Given the description of an element on the screen output the (x, y) to click on. 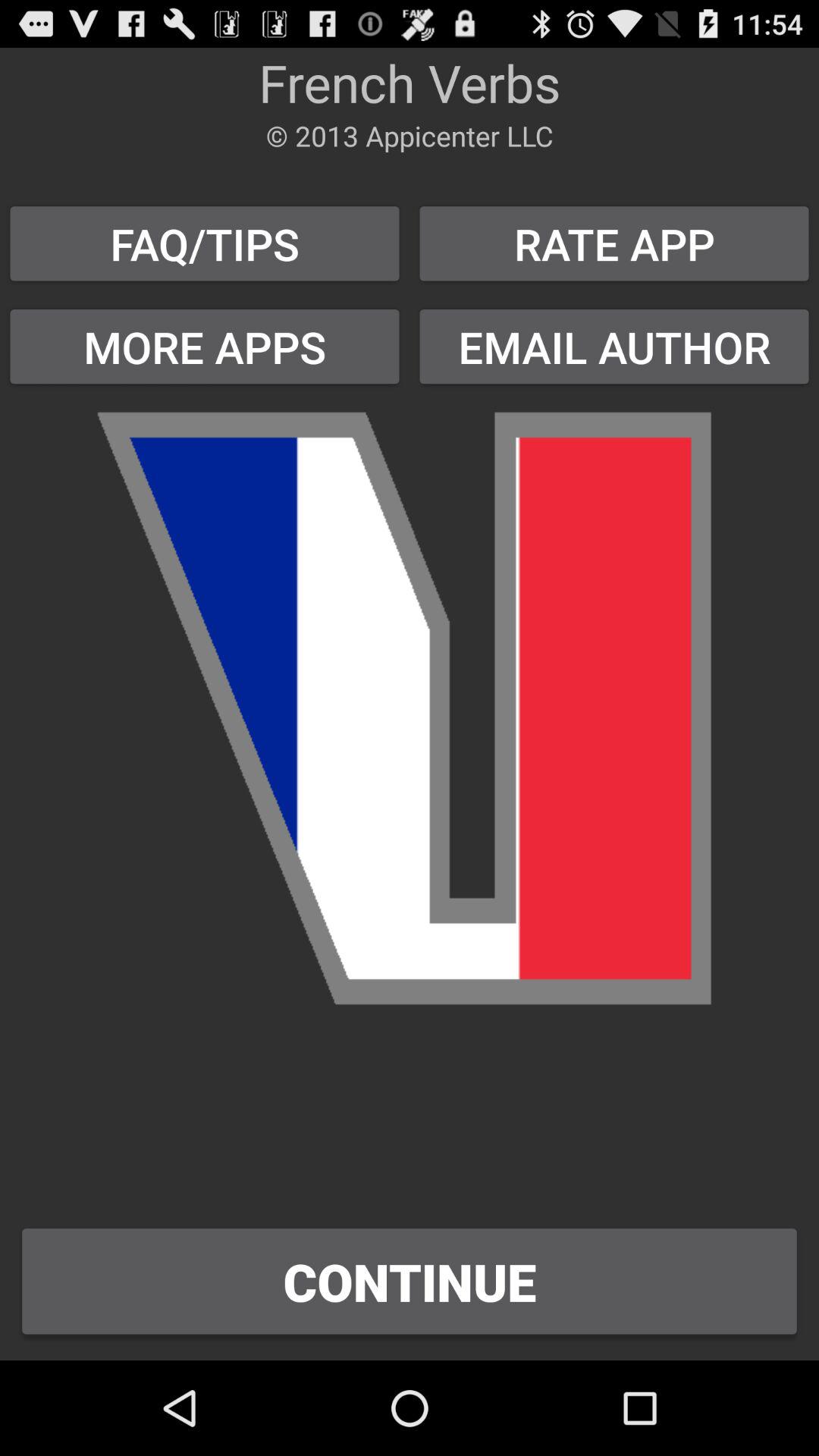
open the item to the left of the rate app button (204, 346)
